Given the description of an element on the screen output the (x, y) to click on. 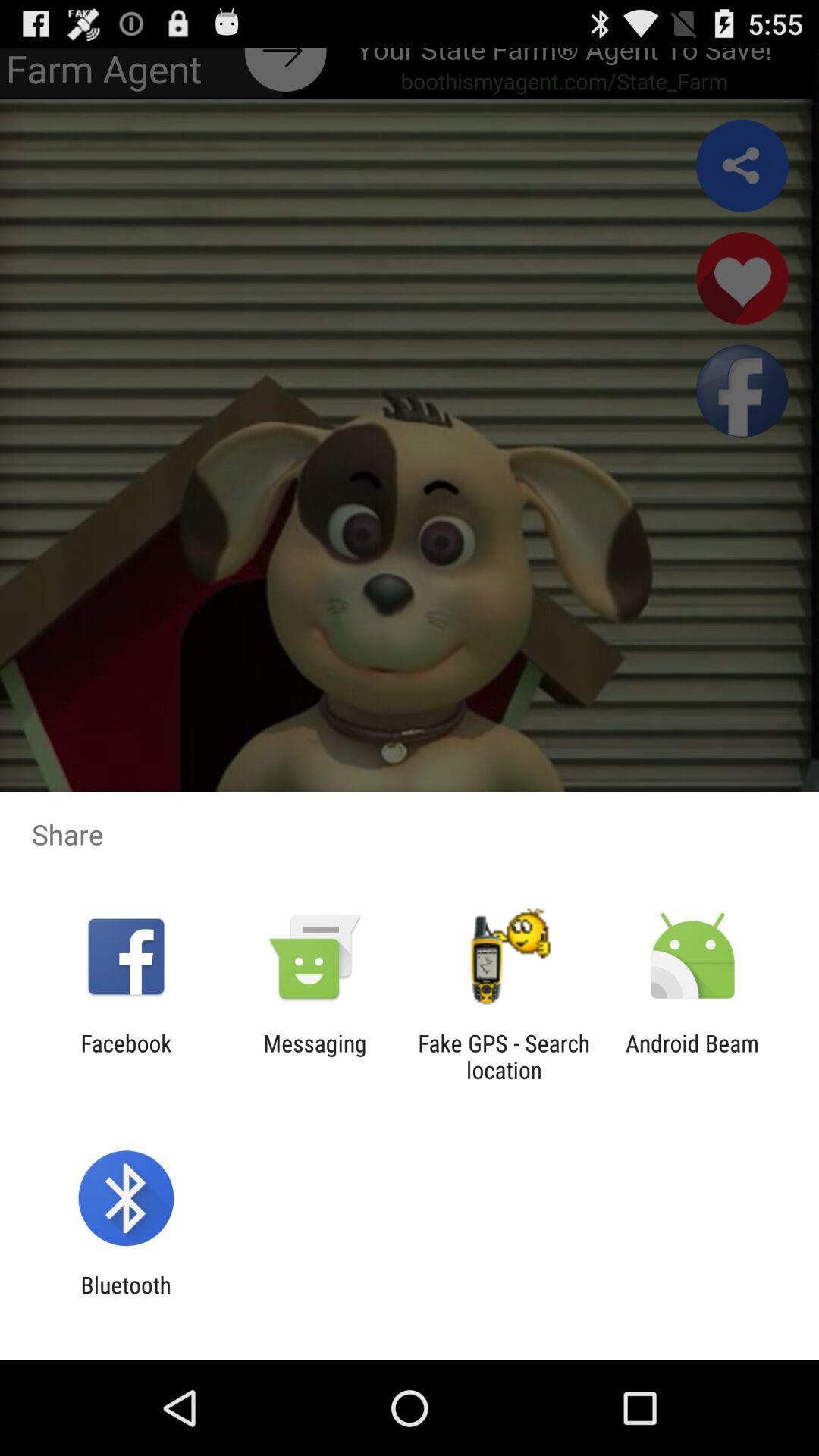
turn on fake gps search (503, 1056)
